Given the description of an element on the screen output the (x, y) to click on. 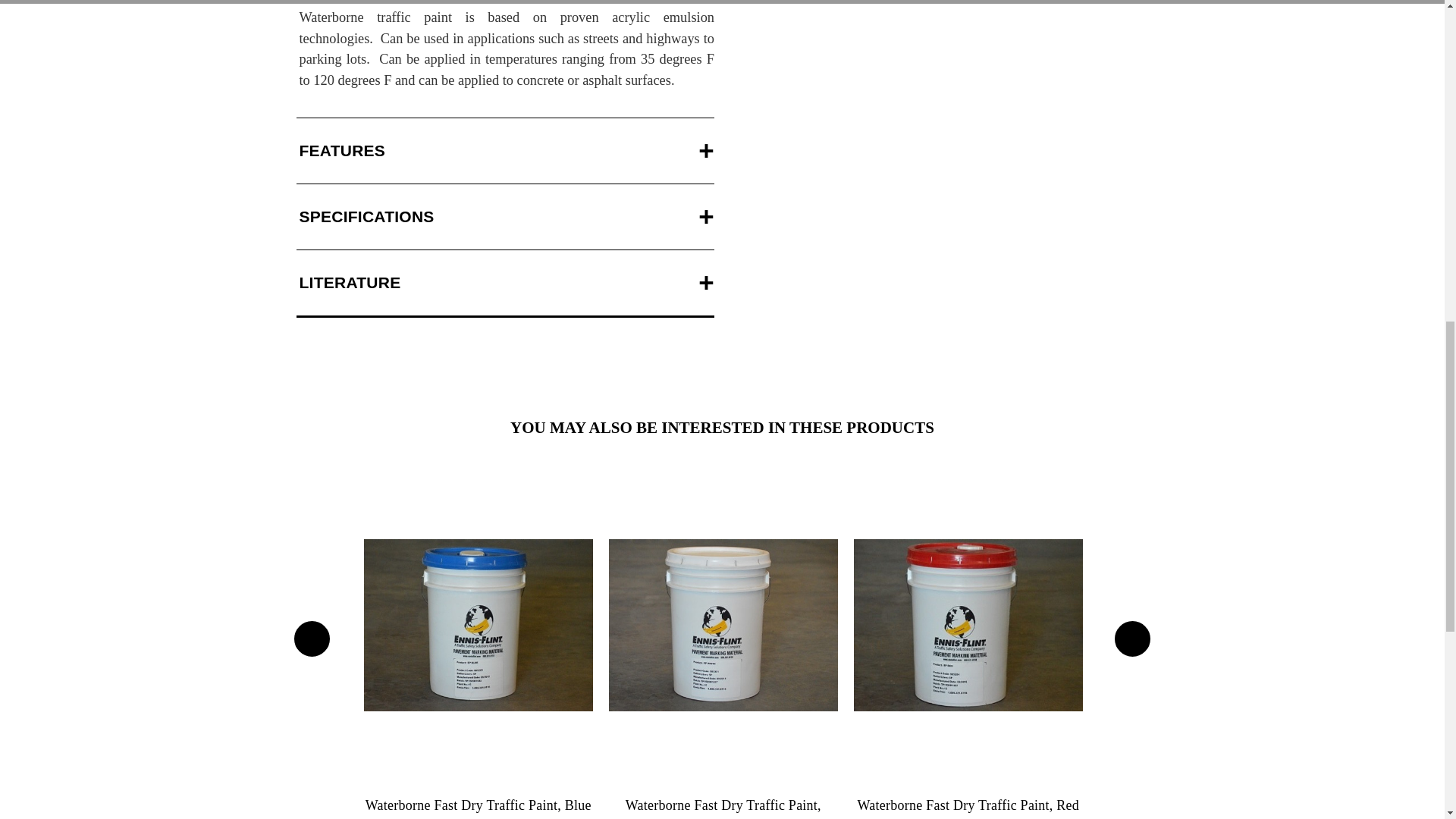
Waterborne Fast Dry Traffic Paint, White (723, 624)
Waterborne Fast Dry Traffic Paint, Red (968, 624)
Waterborne Fast Dry Traffic Paint, Blue (478, 624)
